Given the description of an element on the screen output the (x, y) to click on. 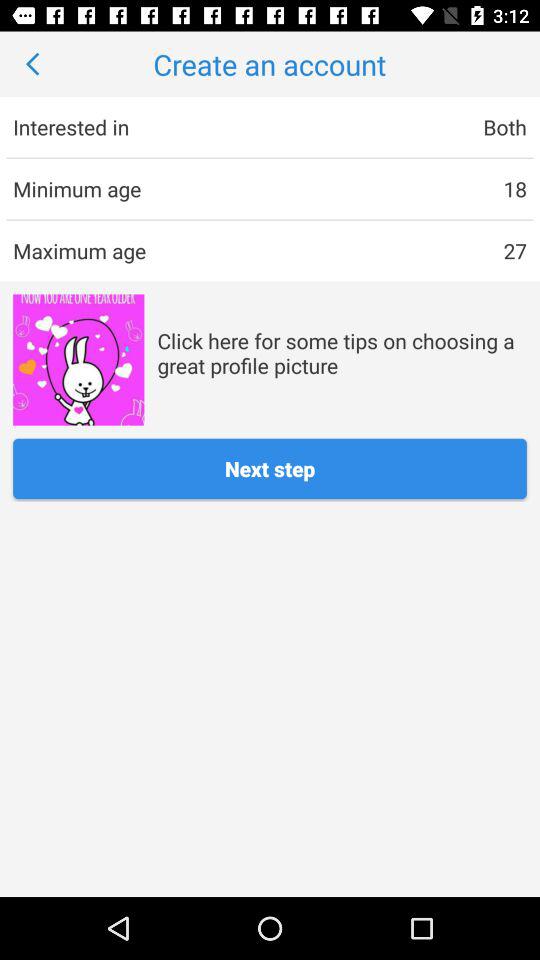
select icon below the 27 app (341, 352)
